Given the description of an element on the screen output the (x, y) to click on. 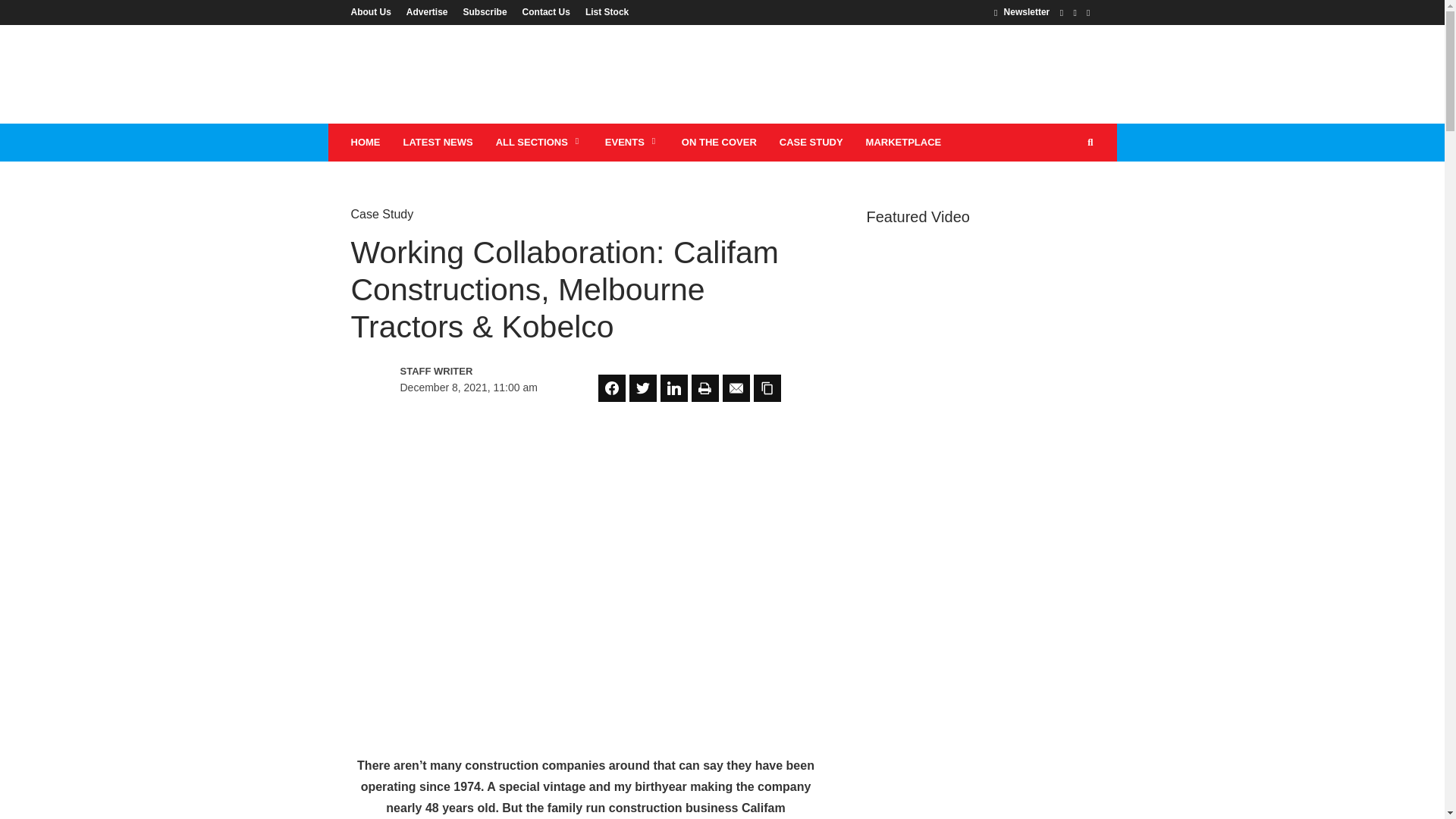
Share on Twitter (642, 388)
ALL SECTIONS (539, 142)
About Us (373, 11)
Contact Us (546, 11)
View all posts by Staff Writer (465, 371)
Share on Copy Link (767, 388)
HOME (365, 142)
Share on LinkedIn (674, 388)
Subscribe (485, 11)
Share on Facebook (612, 388)
LATEST NEWS (437, 142)
Advertise (426, 11)
Share on Print (705, 388)
Share on Email (735, 388)
List Stock (603, 11)
